Given the description of an element on the screen output the (x, y) to click on. 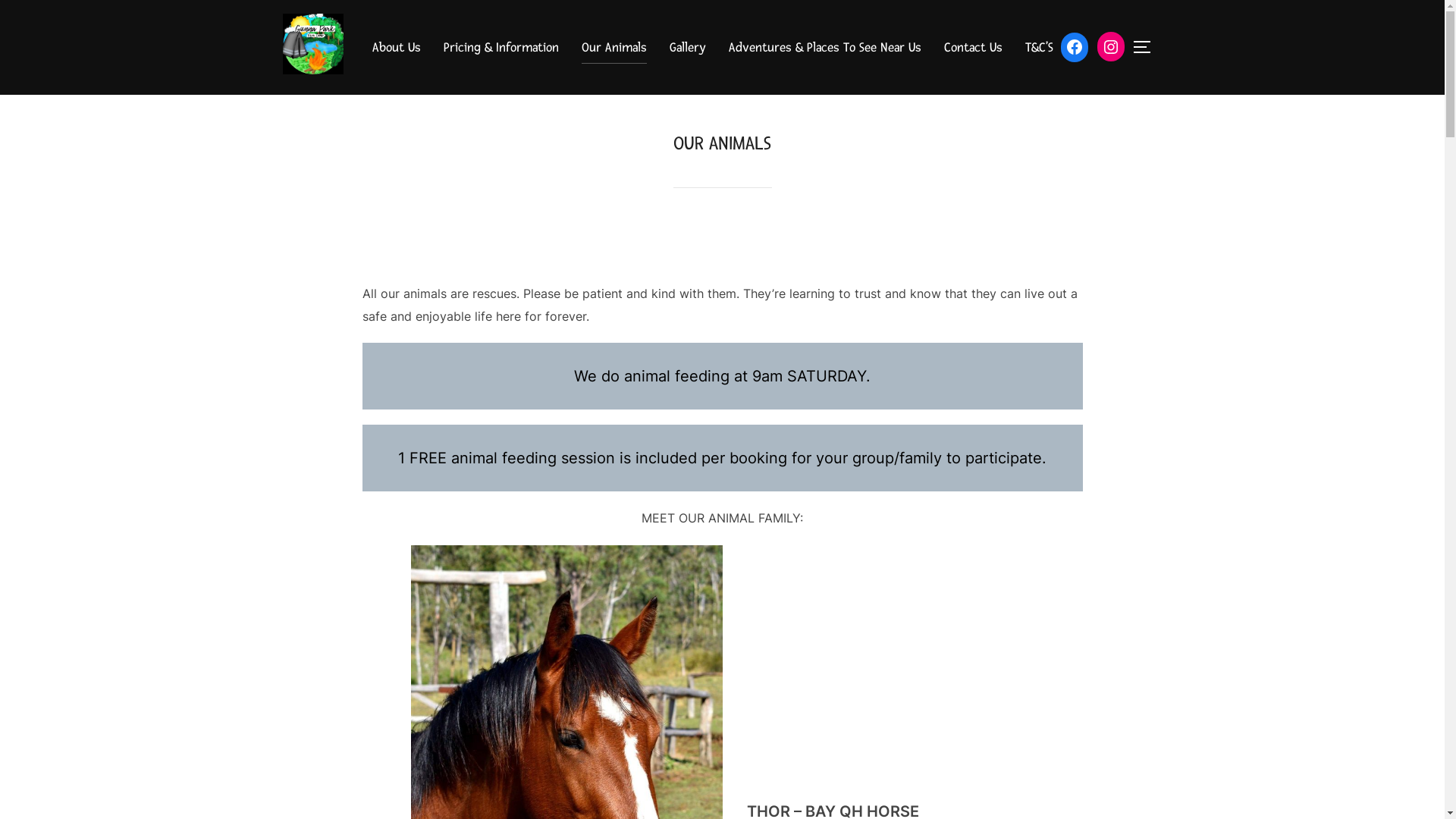
Pricing & Information Element type: text (500, 46)
Our Animals Element type: text (613, 46)
About Us Element type: text (395, 46)
Contact Us Element type: text (972, 46)
Adventures & Places To See Near Us Element type: text (824, 46)
Instagram Element type: text (1109, 46)
Facebook Element type: text (1073, 46)
Gallery Element type: text (686, 46)
TOGGLE SIDEBAR & NAVIGATION Element type: text (1146, 46)
